Given the description of an element on the screen output the (x, y) to click on. 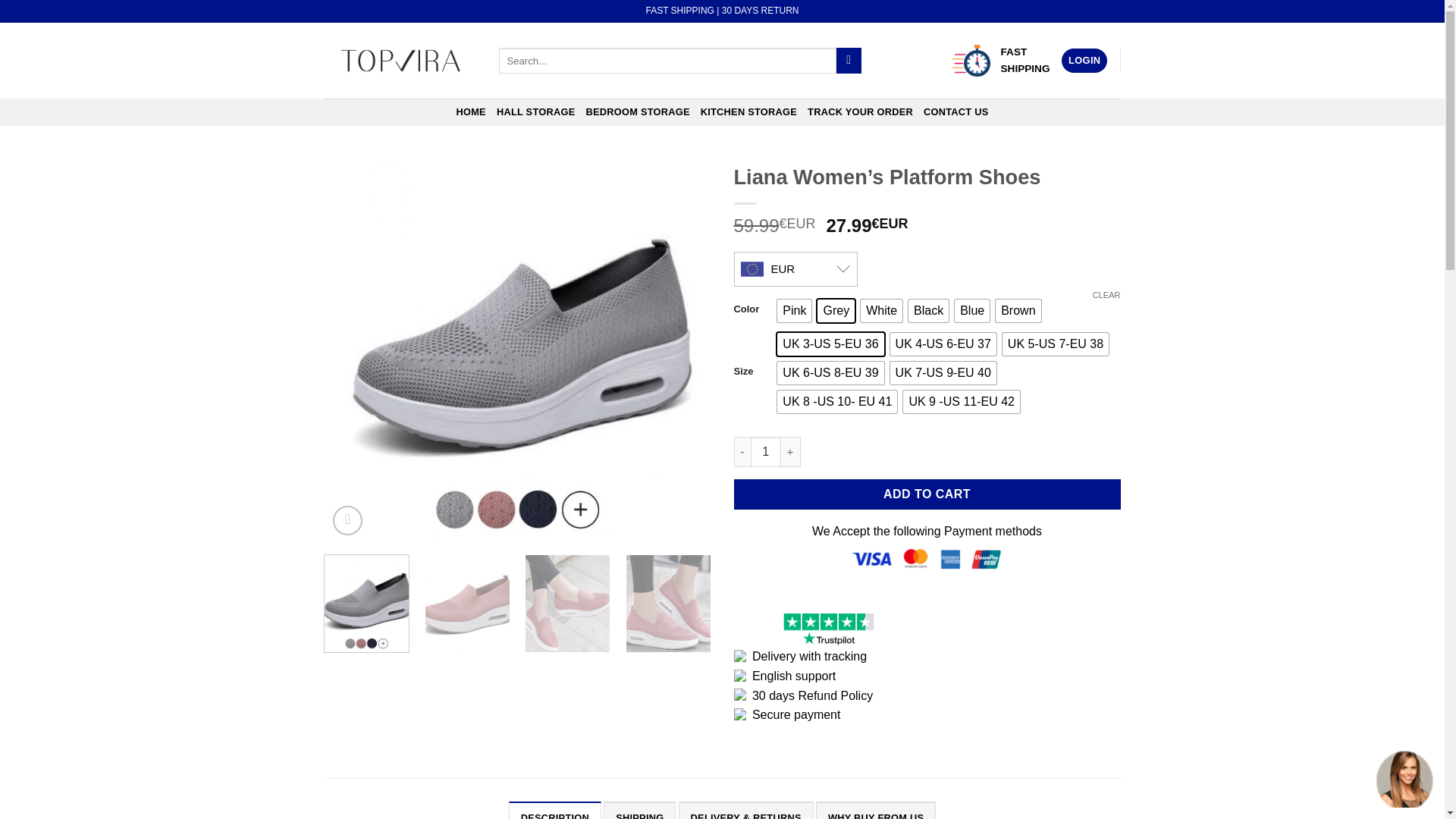
BEDROOM STORAGE (636, 112)
Topvira (400, 60)
TRACK YOUR ORDER (860, 112)
Zoom (347, 520)
HALL STORAGE (535, 112)
CONTACT US (955, 112)
KITCHEN STORAGE (748, 112)
Search (848, 60)
LOGIN (1083, 60)
1 (765, 451)
Fast Shipping (971, 60)
HOME (469, 112)
